Given the description of an element on the screen output the (x, y) to click on. 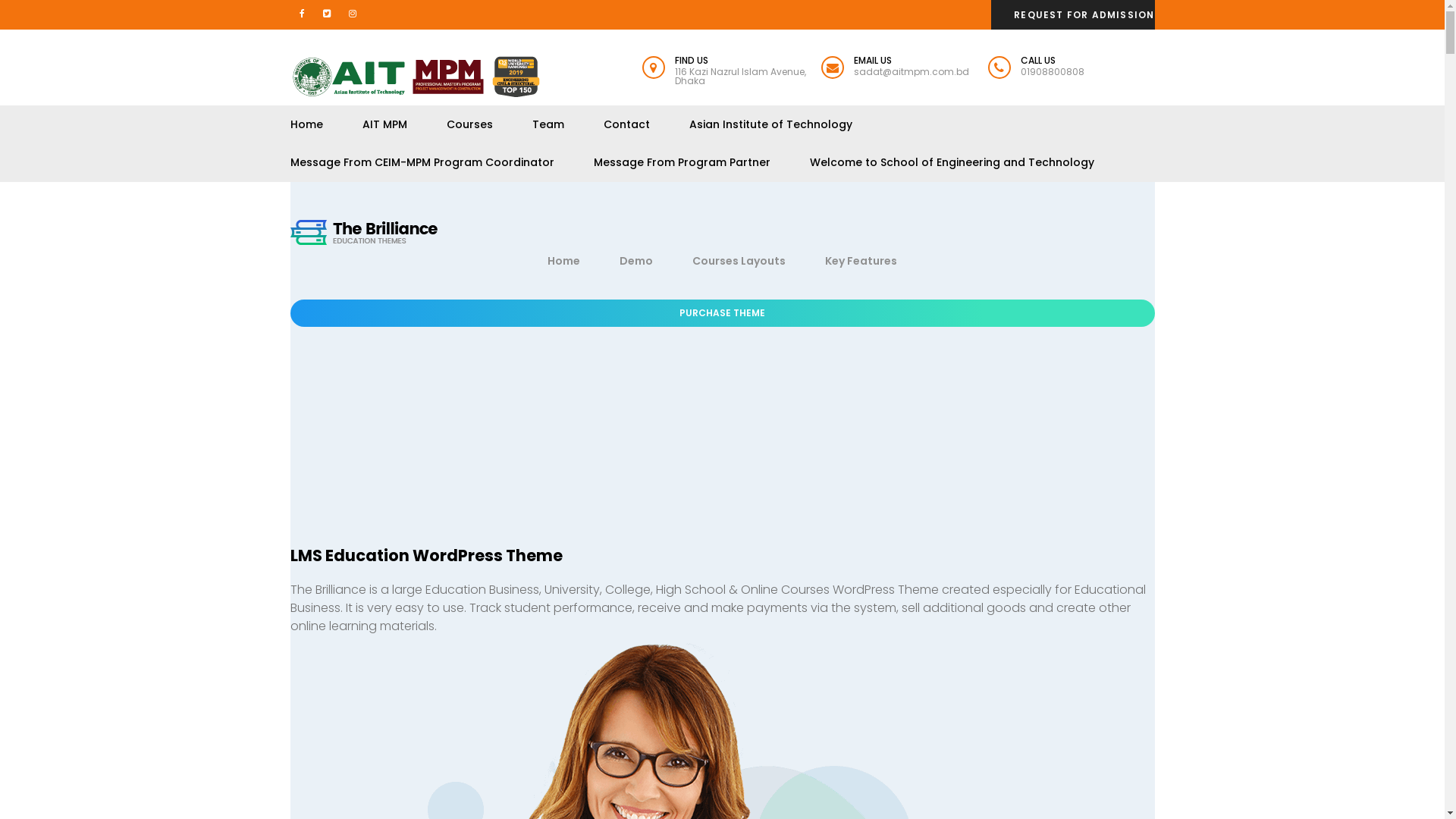
REQUEST FOR ADMISSION Element type: text (1083, 15)
Asian Institute of Technology Element type: text (769, 124)
PURCHASE THEME Element type: text (721, 312)
Courses Layouts Element type: text (738, 260)
AIT MPM Element type: text (384, 124)
Key Features Element type: text (861, 260)
Courses Element type: text (468, 124)
Demo Element type: text (635, 260)
Contact Element type: text (626, 124)
Message From CEIM-MPM Program Coordinator Element type: text (421, 162)
Message From Program Partner Element type: text (680, 162)
Login Element type: text (782, 465)
Welcome to School of Engineering and Technology Element type: text (951, 162)
Team Element type: text (548, 124)
Home Element type: text (305, 124)
Home Element type: text (563, 260)
